Given the description of an element on the screen output the (x, y) to click on. 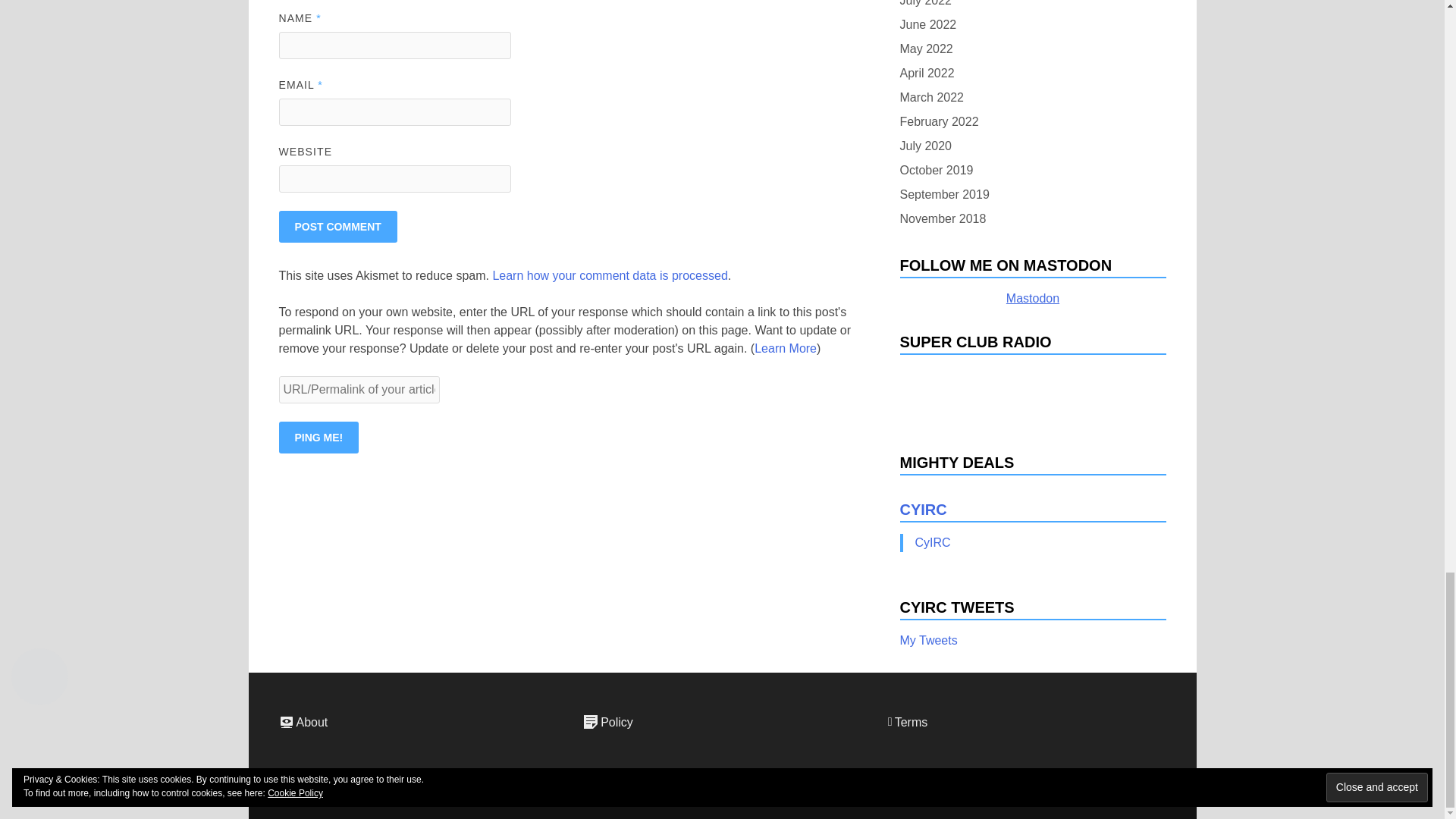
Post Comment (338, 226)
Ping me! (319, 437)
